Given the description of an element on the screen output the (x, y) to click on. 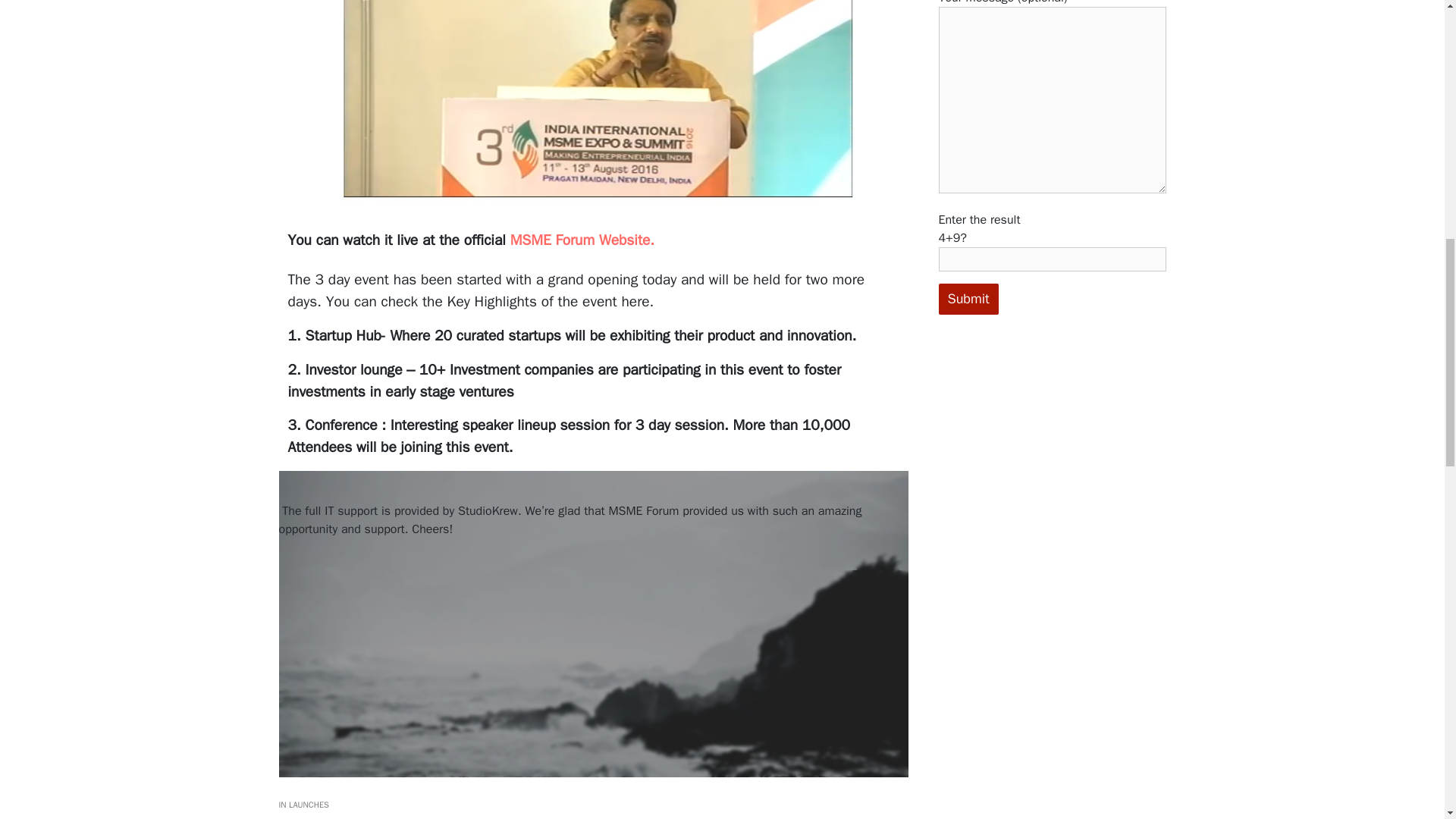
Submit (968, 298)
Submit (968, 298)
MSME Forum Website.  (585, 239)
LAUNCHES (308, 804)
